Given the description of an element on the screen output the (x, y) to click on. 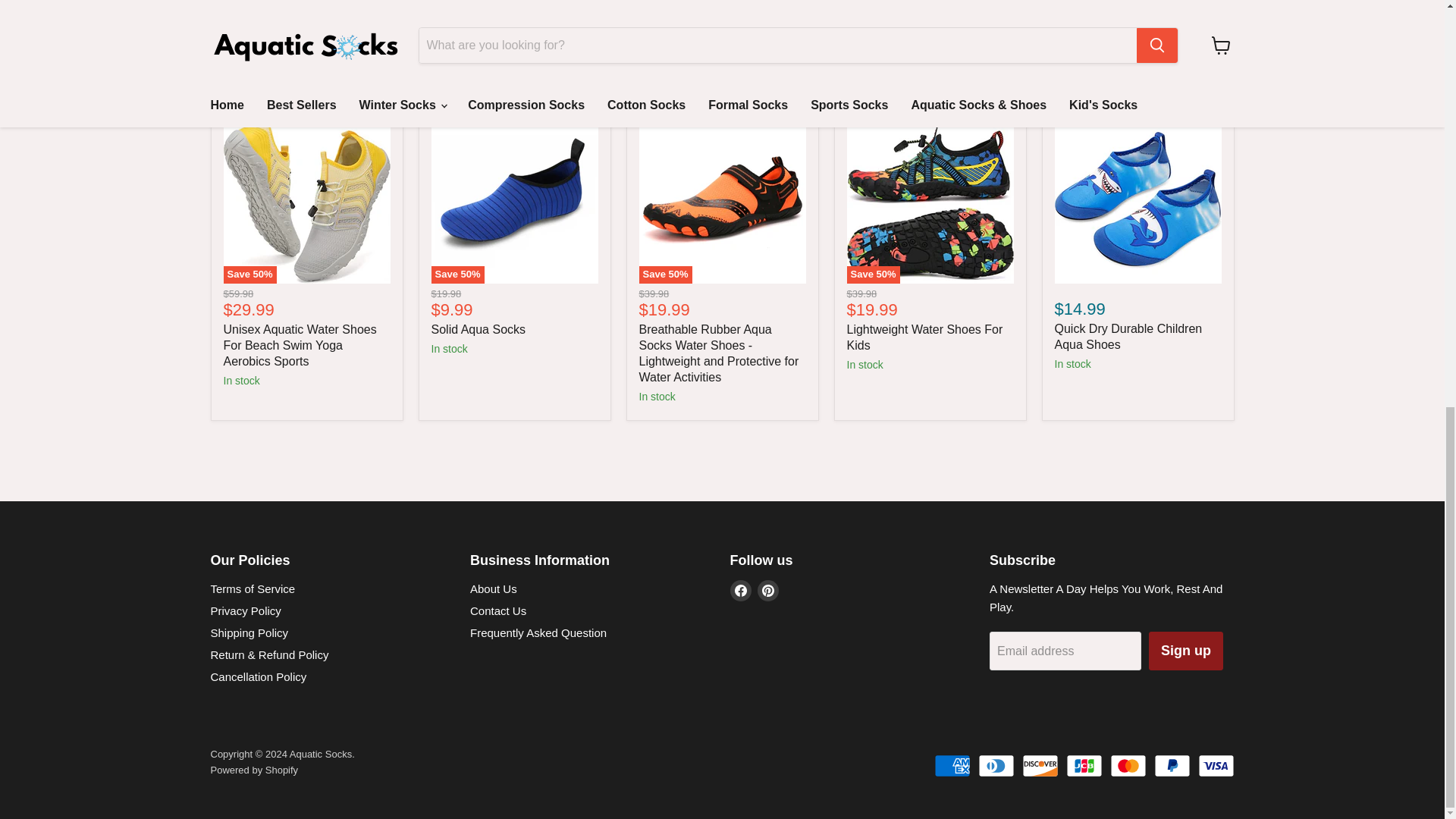
Mastercard (1128, 765)
American Express (952, 765)
Discover (1040, 765)
Pinterest (767, 590)
PayPal (1172, 765)
Facebook (740, 590)
Diners Club (996, 765)
JCB (1083, 765)
